Given the description of an element on the screen output the (x, y) to click on. 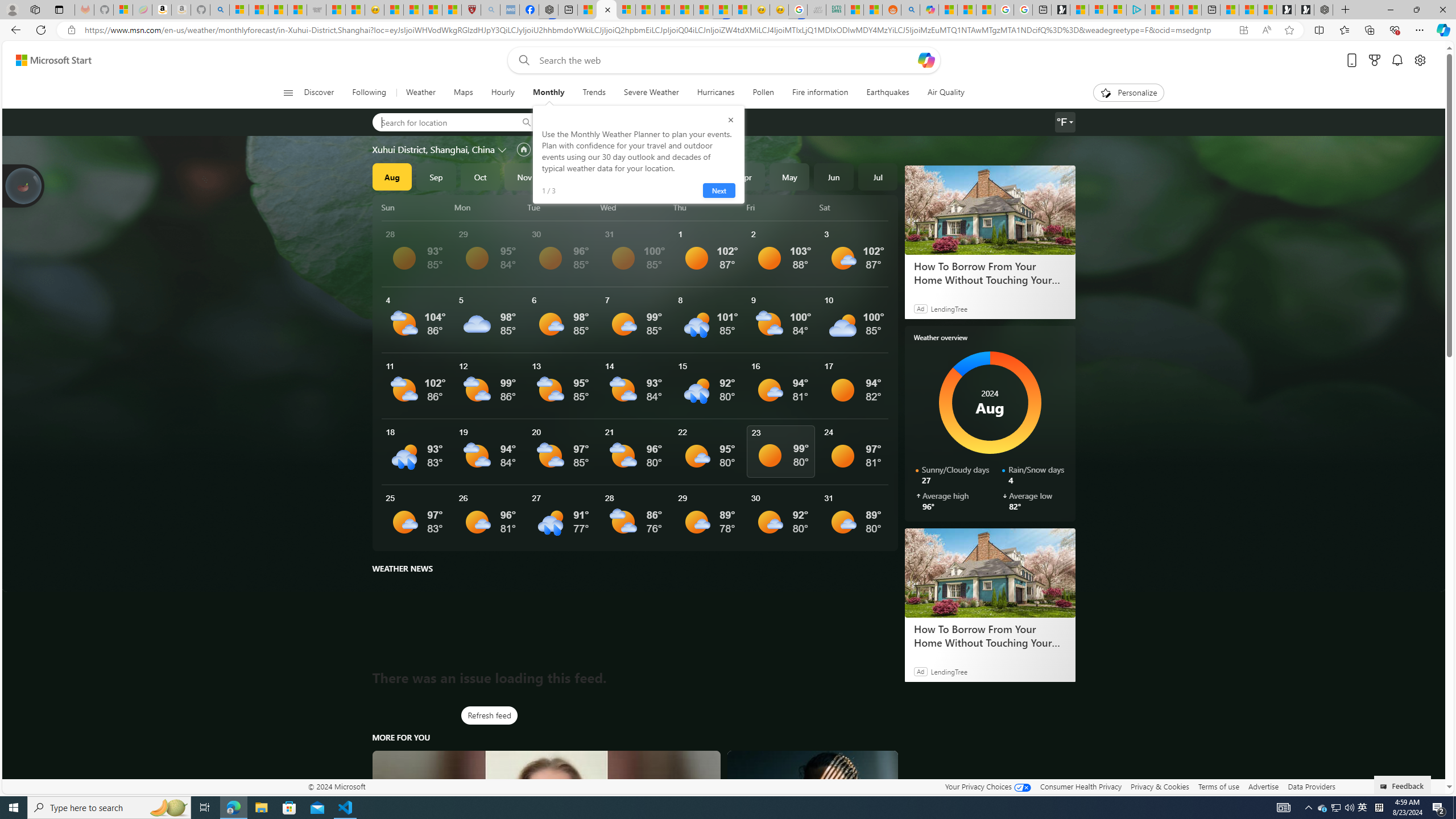
Privacy & Cookies (1160, 786)
Oct (480, 176)
Aug (391, 176)
Navy Quest (816, 9)
Skip to content (49, 59)
Fire information (820, 92)
Maps (462, 92)
Dec (568, 176)
AutomationID: donut-chart-monthly (990, 402)
